Given the description of an element on the screen output the (x, y) to click on. 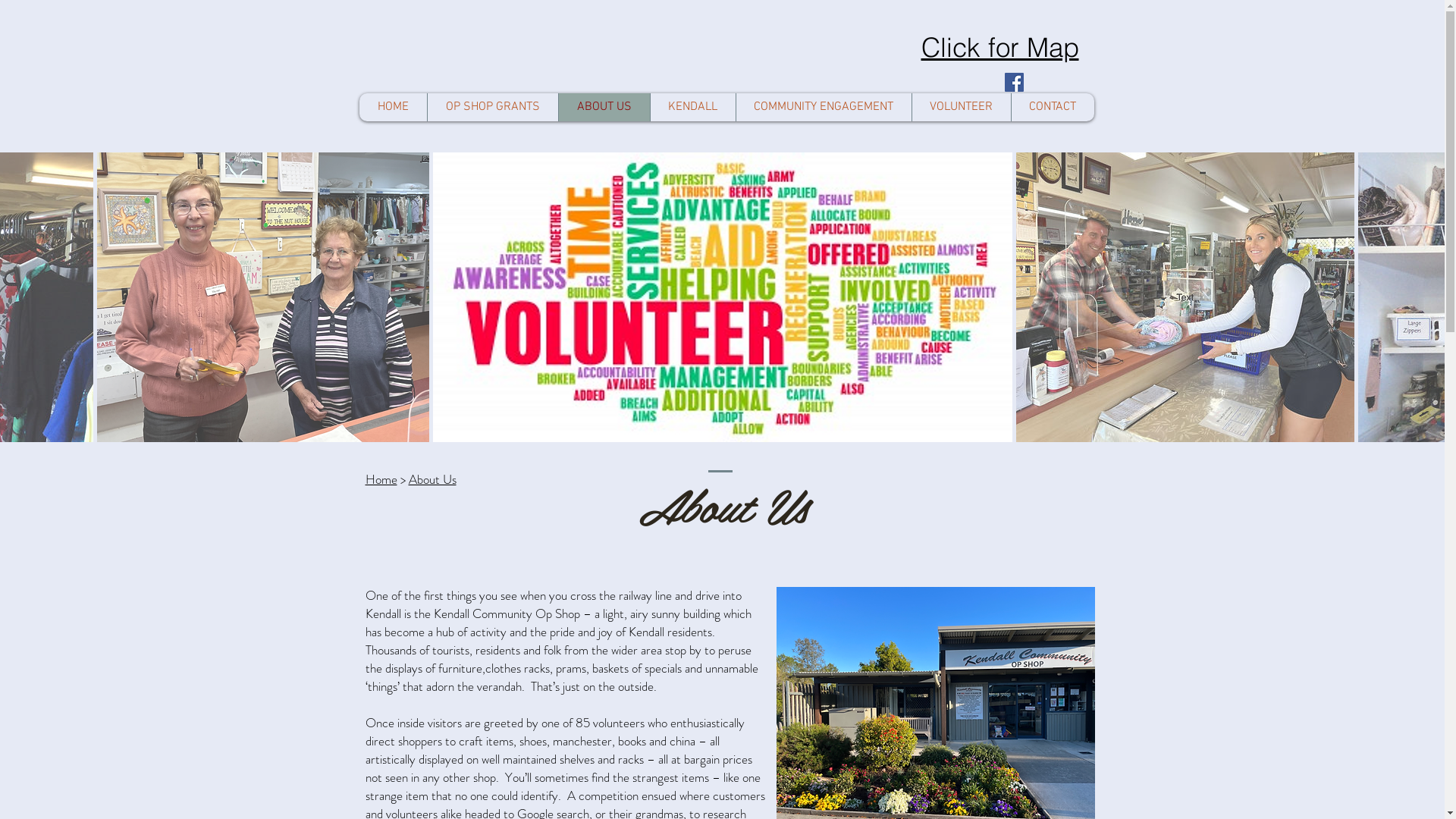
KENDALL Element type: text (691, 107)
HOME Element type: text (392, 107)
CONTACT Element type: text (1051, 107)
OP SHOP GRANTS Element type: text (491, 107)
COMMUNITY ENGAGEMENT Element type: text (823, 107)
About Us Element type: text (431, 479)
VOLUNTEER Element type: text (960, 107)
Home Element type: text (381, 479)
Click for Map Element type: text (999, 46)
ABOUT US Element type: text (603, 107)
